Given the description of an element on the screen output the (x, y) to click on. 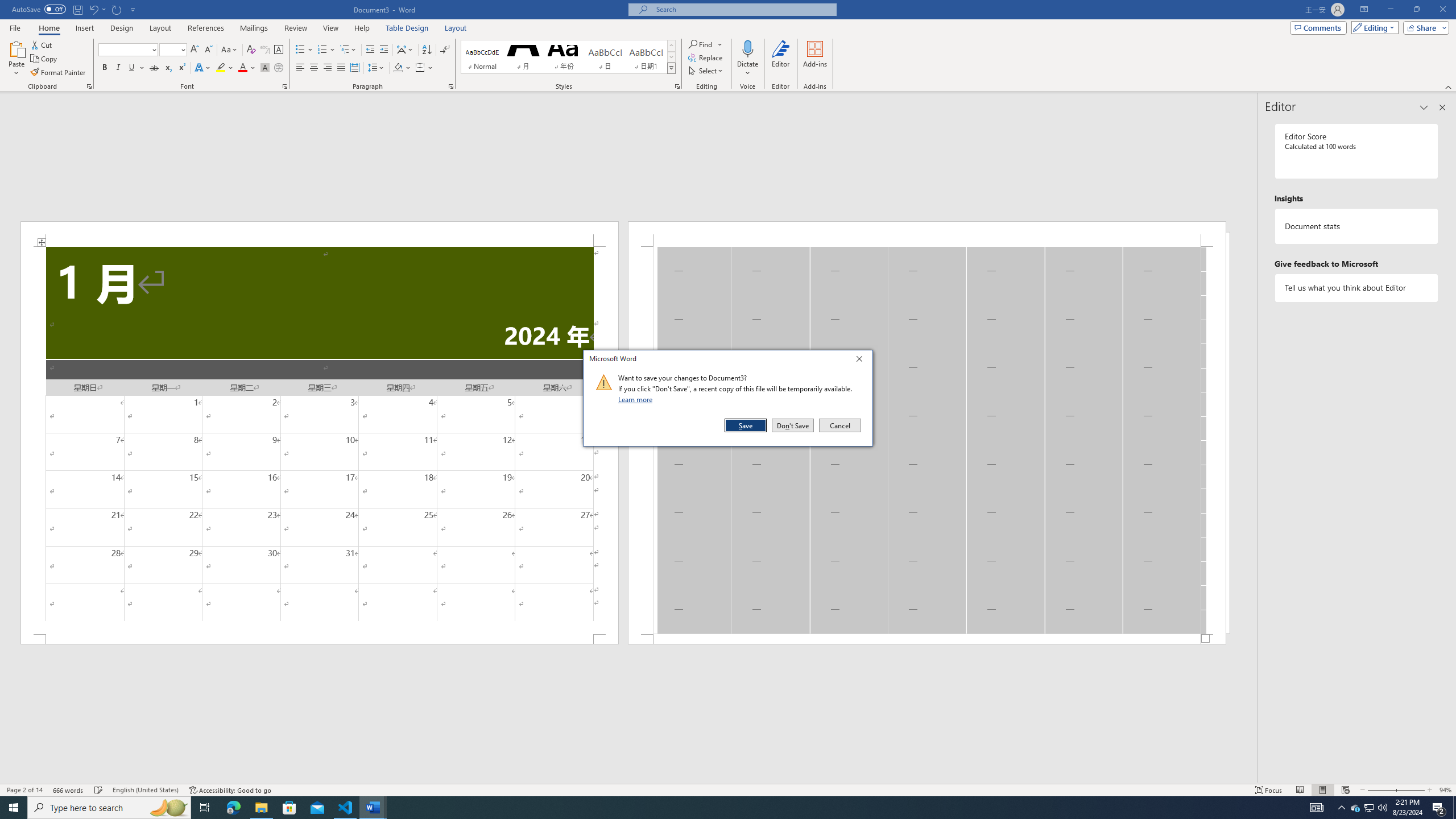
Character Border (278, 49)
Undo Apply Quick Style (92, 9)
Cut (42, 44)
Tell us what you think about Editor (1356, 288)
Superscript (180, 67)
Grow Font (193, 49)
Home (48, 28)
Mode (1372, 27)
Font Color (246, 67)
Office Clipboard... (88, 85)
Font Size (172, 49)
References (205, 28)
Increase Indent (383, 49)
Page Number Page 2 of 14 (24, 790)
Find (705, 44)
